Given the description of an element on the screen output the (x, y) to click on. 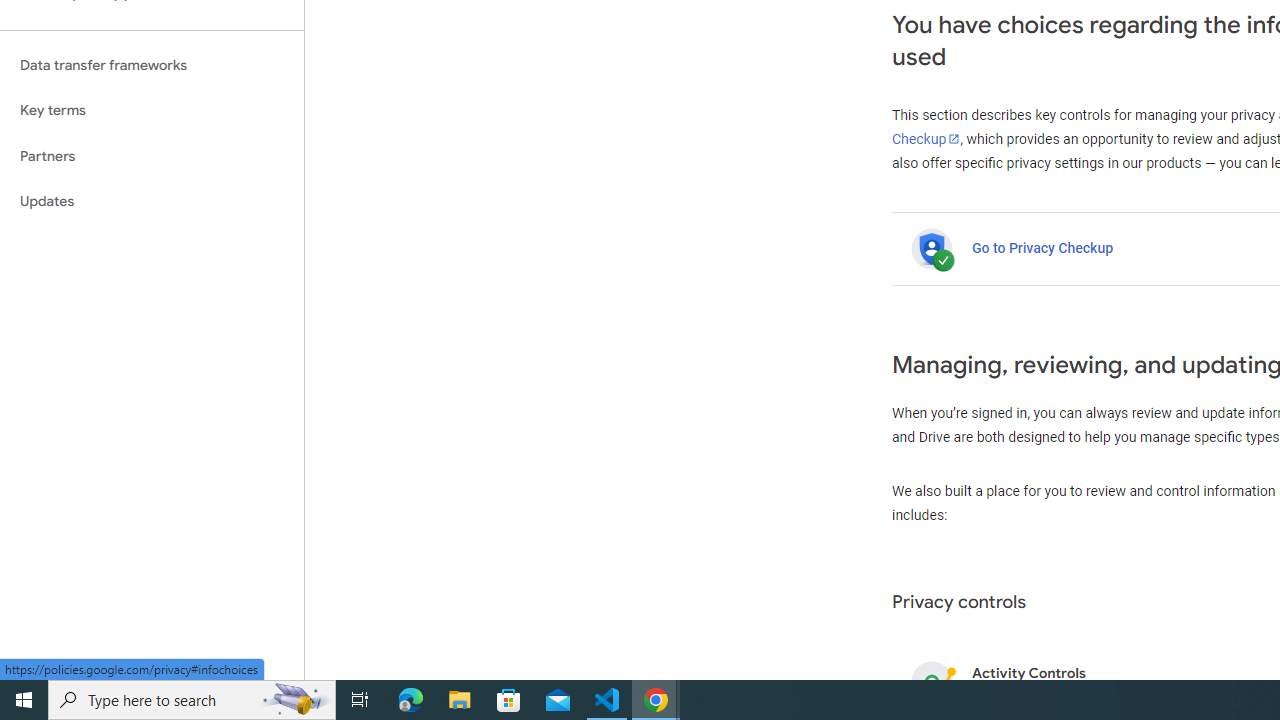
Key terms (152, 110)
Data transfer frameworks (152, 65)
Go to Privacy Checkup (1042, 248)
Partners (152, 156)
